Given the description of an element on the screen output the (x, y) to click on. 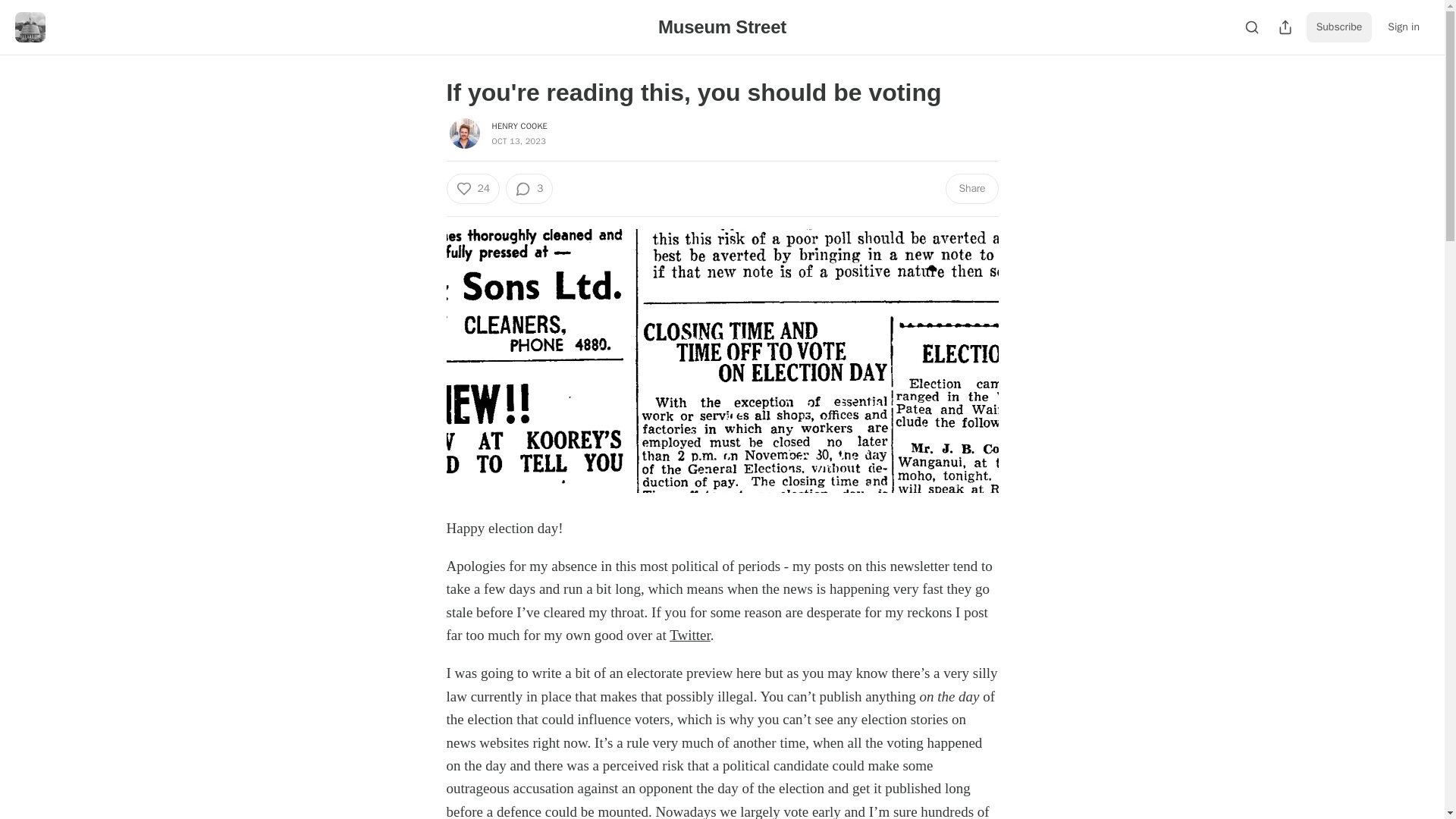
HENRY COOKE (519, 125)
Twitter (689, 634)
Subscribe (1339, 27)
Museum Street (722, 26)
Sign in (1403, 27)
3 (529, 188)
Share (970, 188)
24 (472, 188)
